Given the description of an element on the screen output the (x, y) to click on. 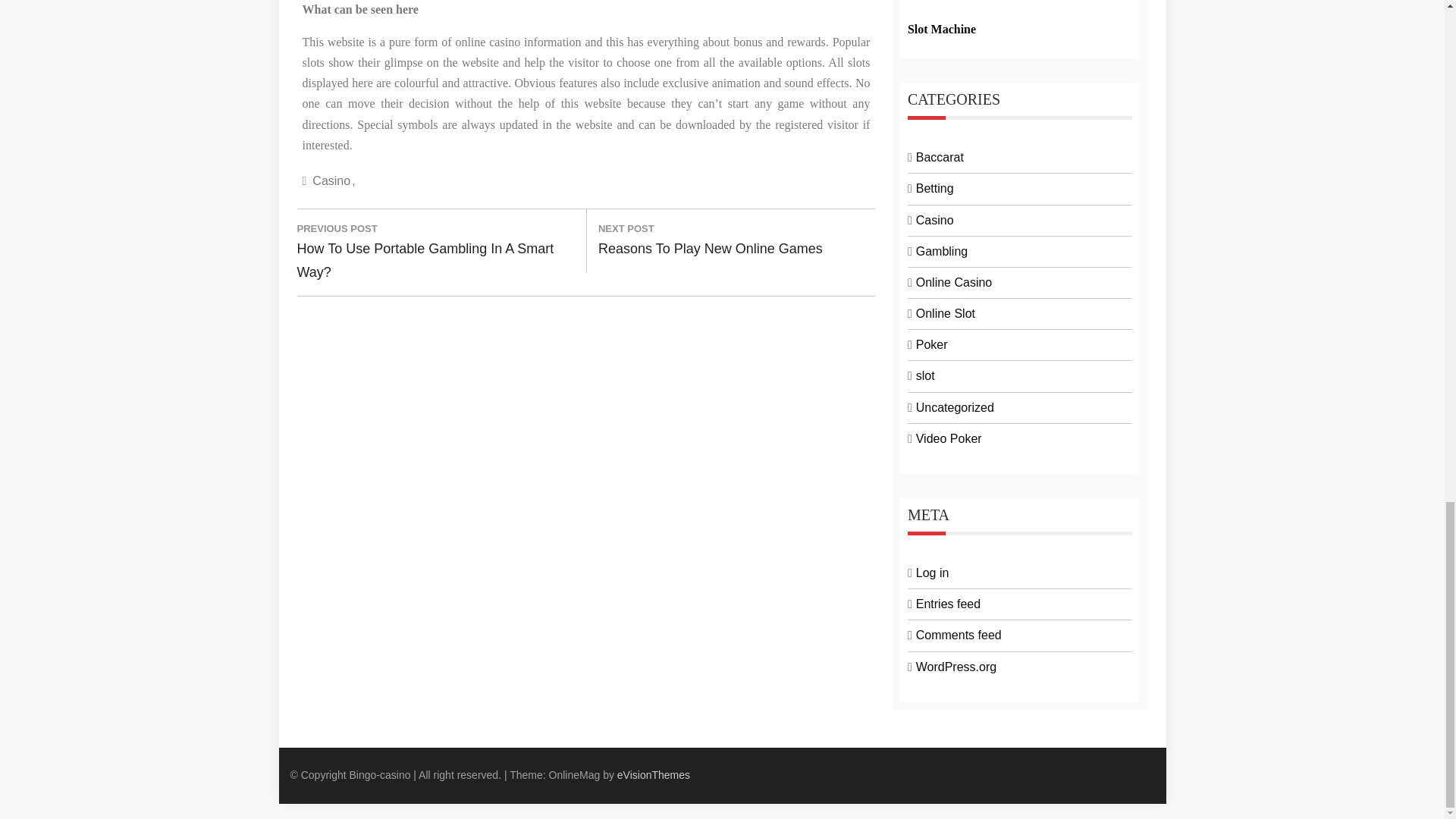
Casino (333, 180)
